Given the description of an element on the screen output the (x, y) to click on. 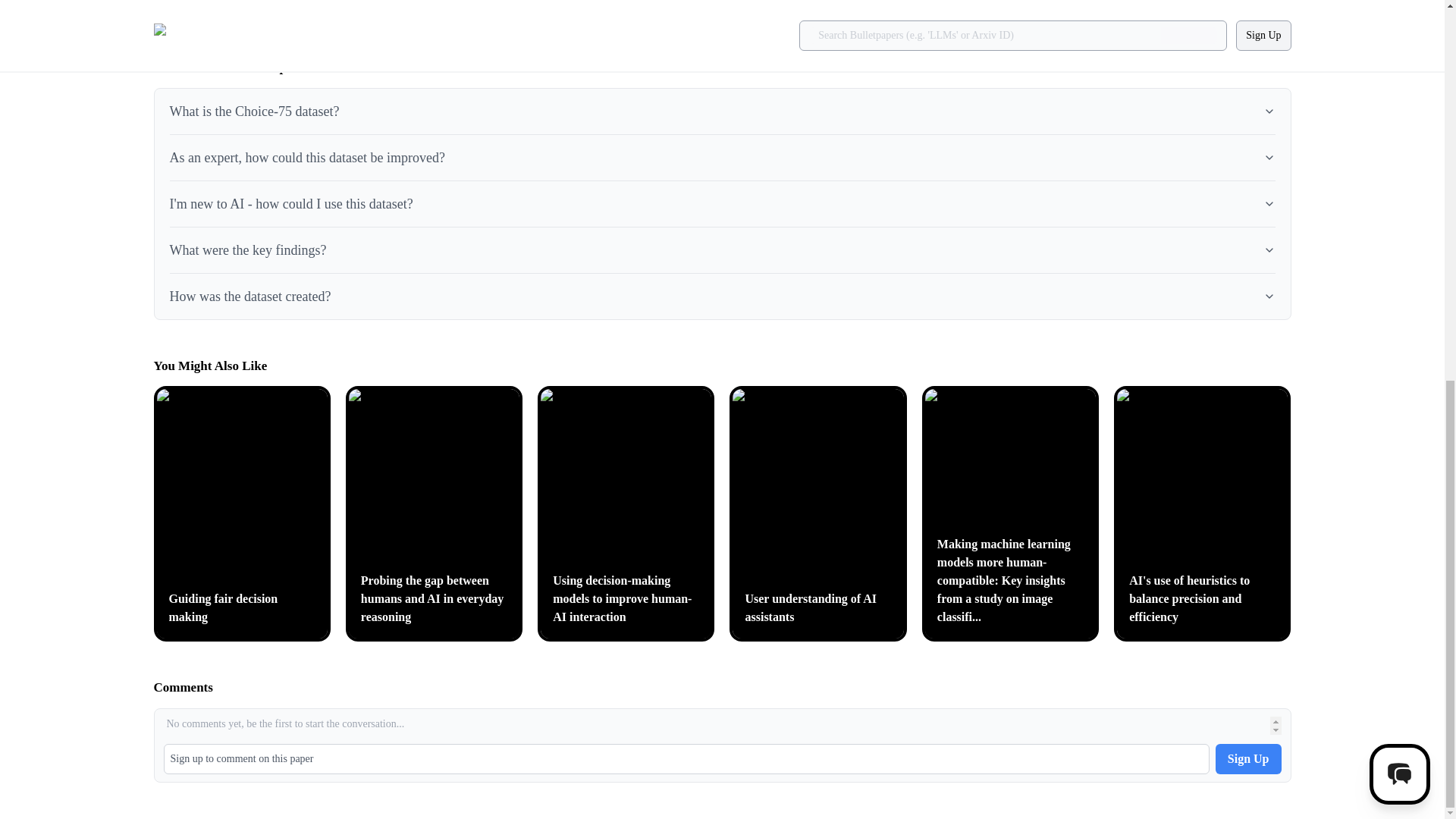
What is the Choice-75 dataset? (722, 107)
Sign Up (1248, 758)
What were the key findings? (722, 246)
As an expert, how could this dataset be improved? (722, 154)
How was the dataset created? (722, 292)
I'm new to AI - how could I use this dataset? (722, 200)
No comments yet, be the first to start the conversation... (722, 725)
